Given the description of an element on the screen output the (x, y) to click on. 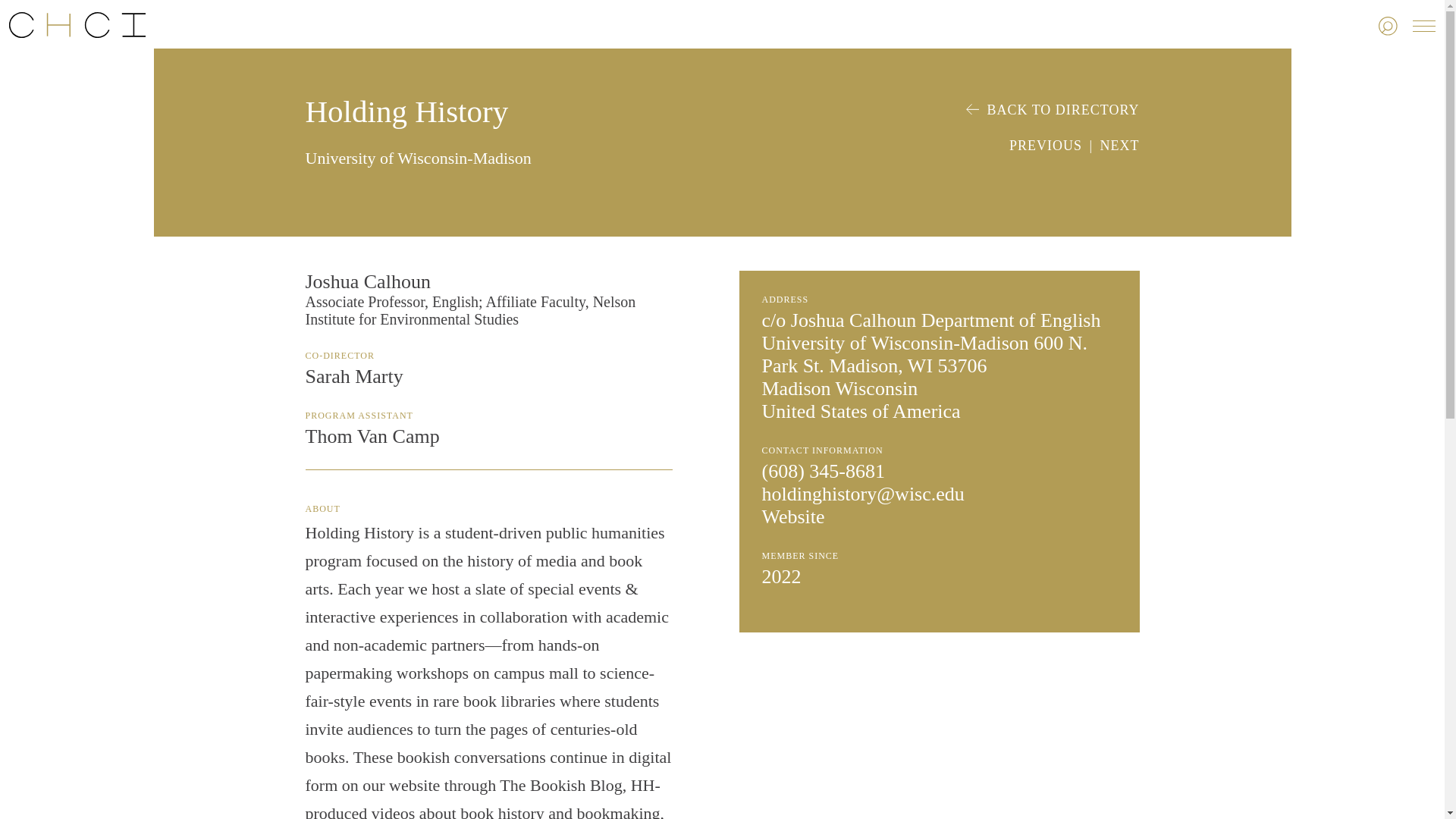
Website (792, 516)
PREVIOUS (1045, 145)
NEXT (1118, 145)
BACK TO DIRECTORY (1052, 109)
